Given the description of an element on the screen output the (x, y) to click on. 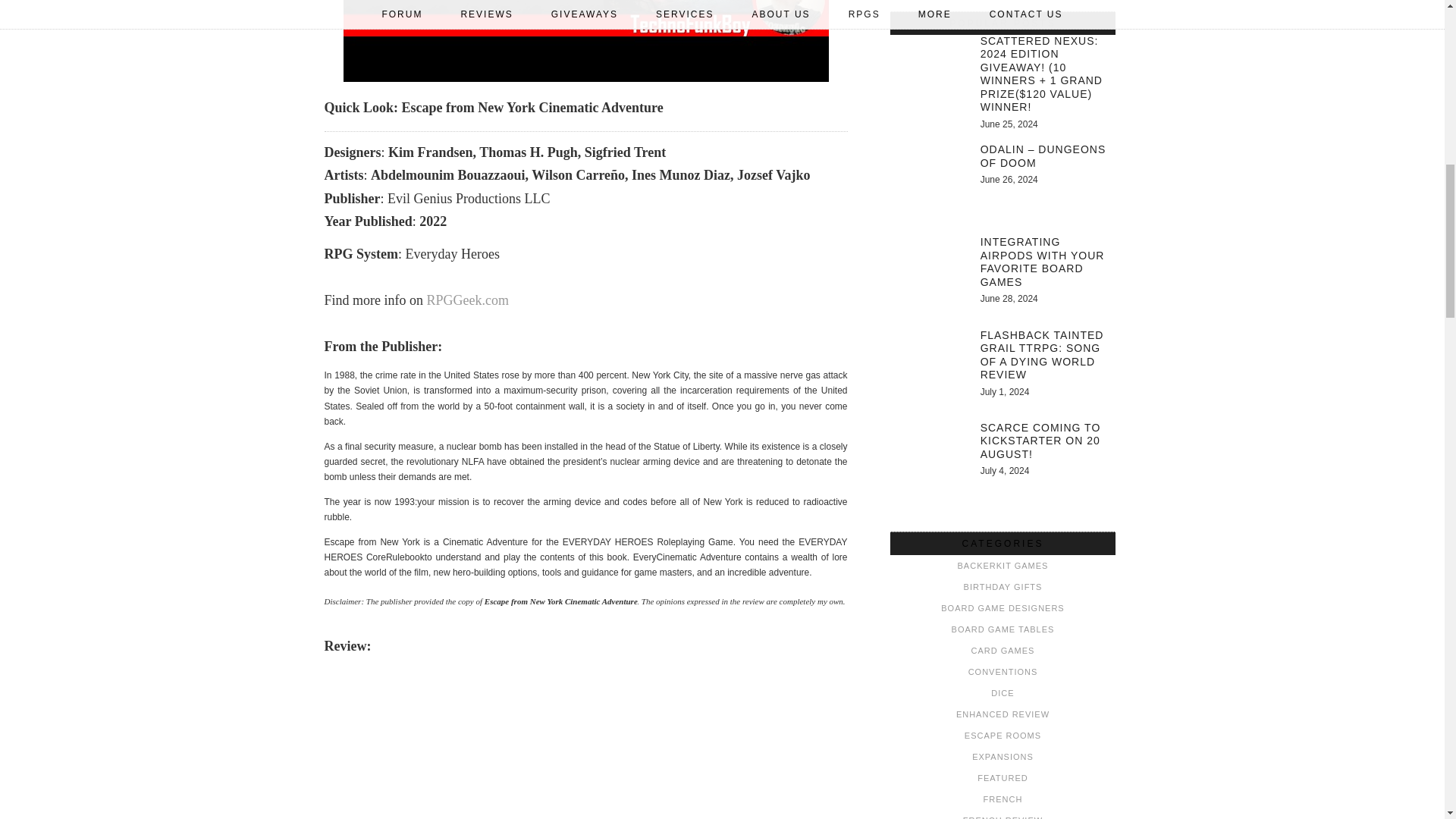
RPGGeek.com (467, 299)
